Given the description of an element on the screen output the (x, y) to click on. 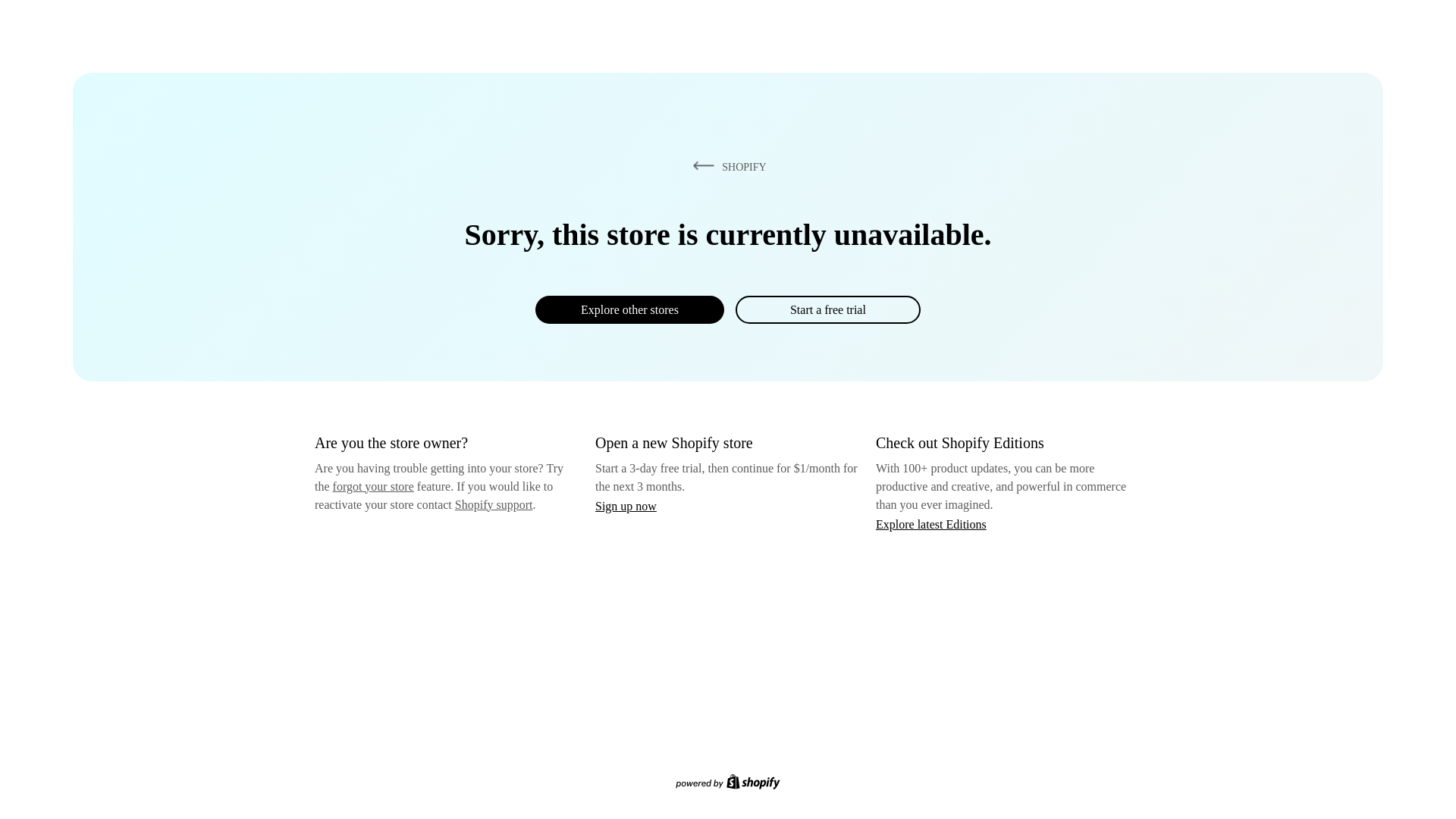
Sign up now (625, 505)
Explore other stores (629, 309)
SHOPIFY (726, 166)
forgot your store (373, 486)
Explore latest Editions (931, 523)
Shopify support (493, 504)
Start a free trial (827, 309)
